Given the description of an element on the screen output the (x, y) to click on. 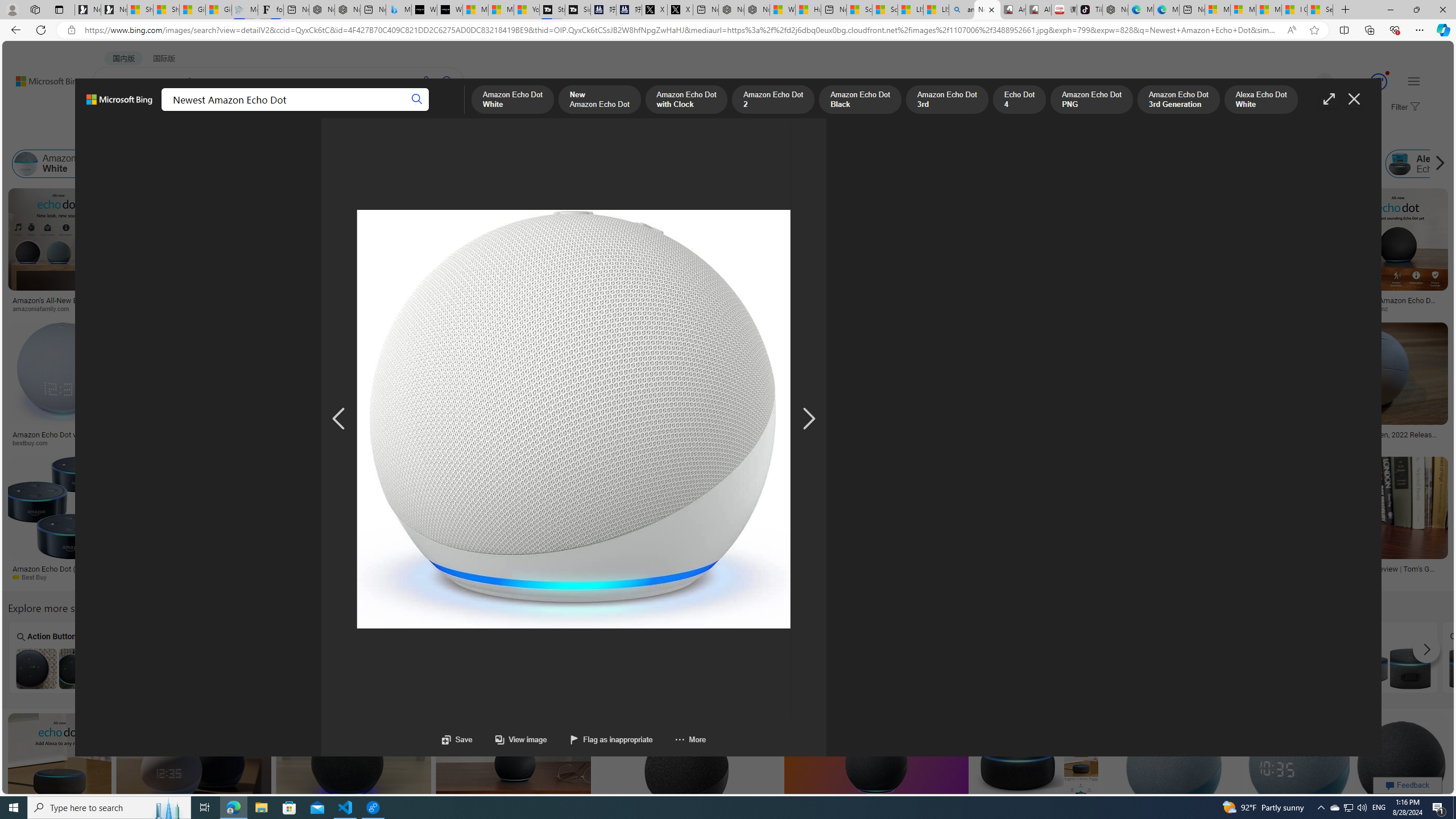
reviewcentralme.com (289, 308)
pbtech.co.nz (1374, 308)
Amazon Echo Dot Action Button Action Button (57, 656)
License (378, 135)
Amazon Echo Dot 3rd Generation (997, 163)
